Given the description of an element on the screen output the (x, y) to click on. 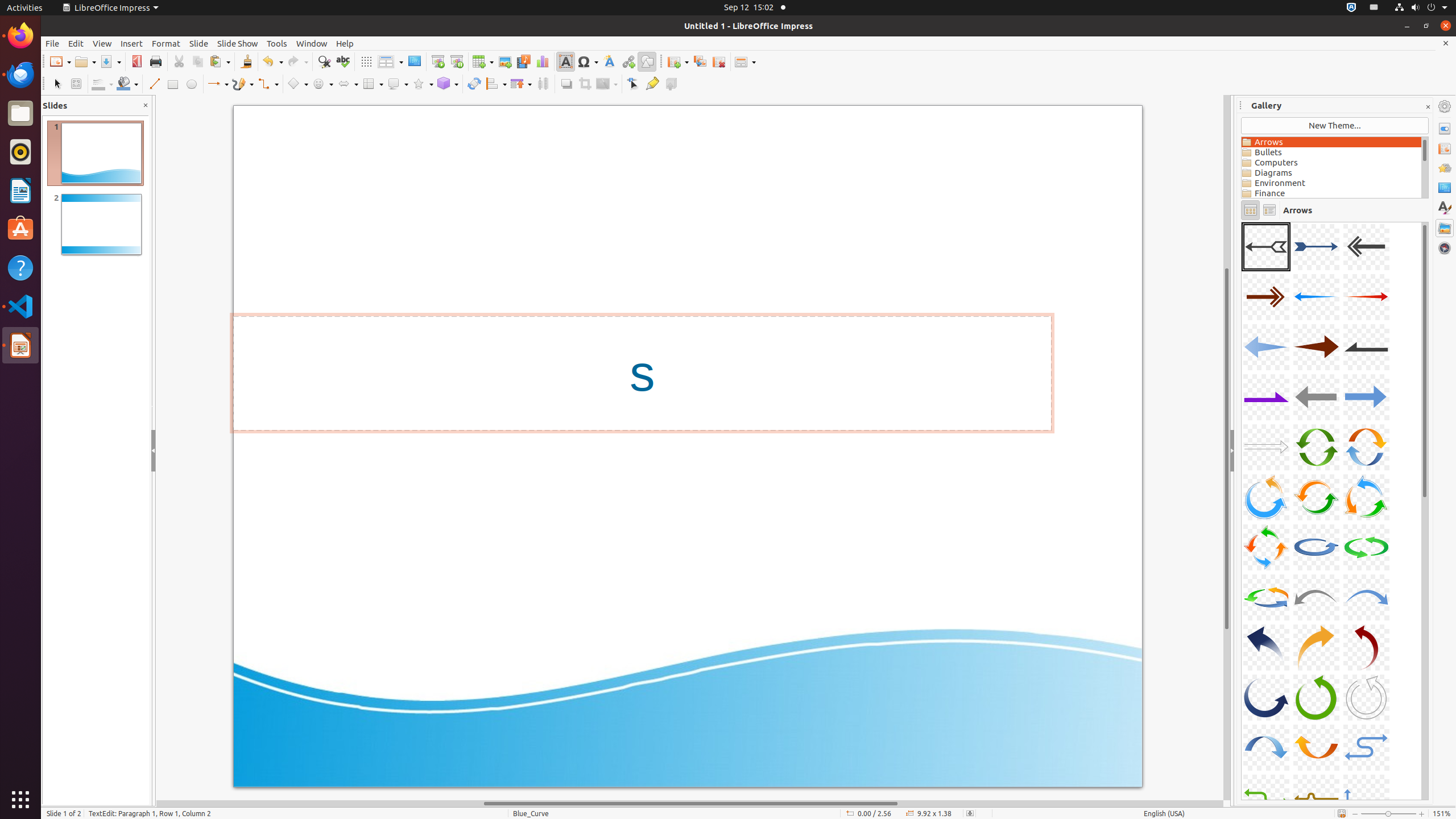
Line Element type: push-button (153, 83)
Connectors Element type: push-button (267, 83)
Arrows Element type: list-item (1331, 142)
Text Box Element type: push-button (565, 61)
